Given the description of an element on the screen output the (x, y) to click on. 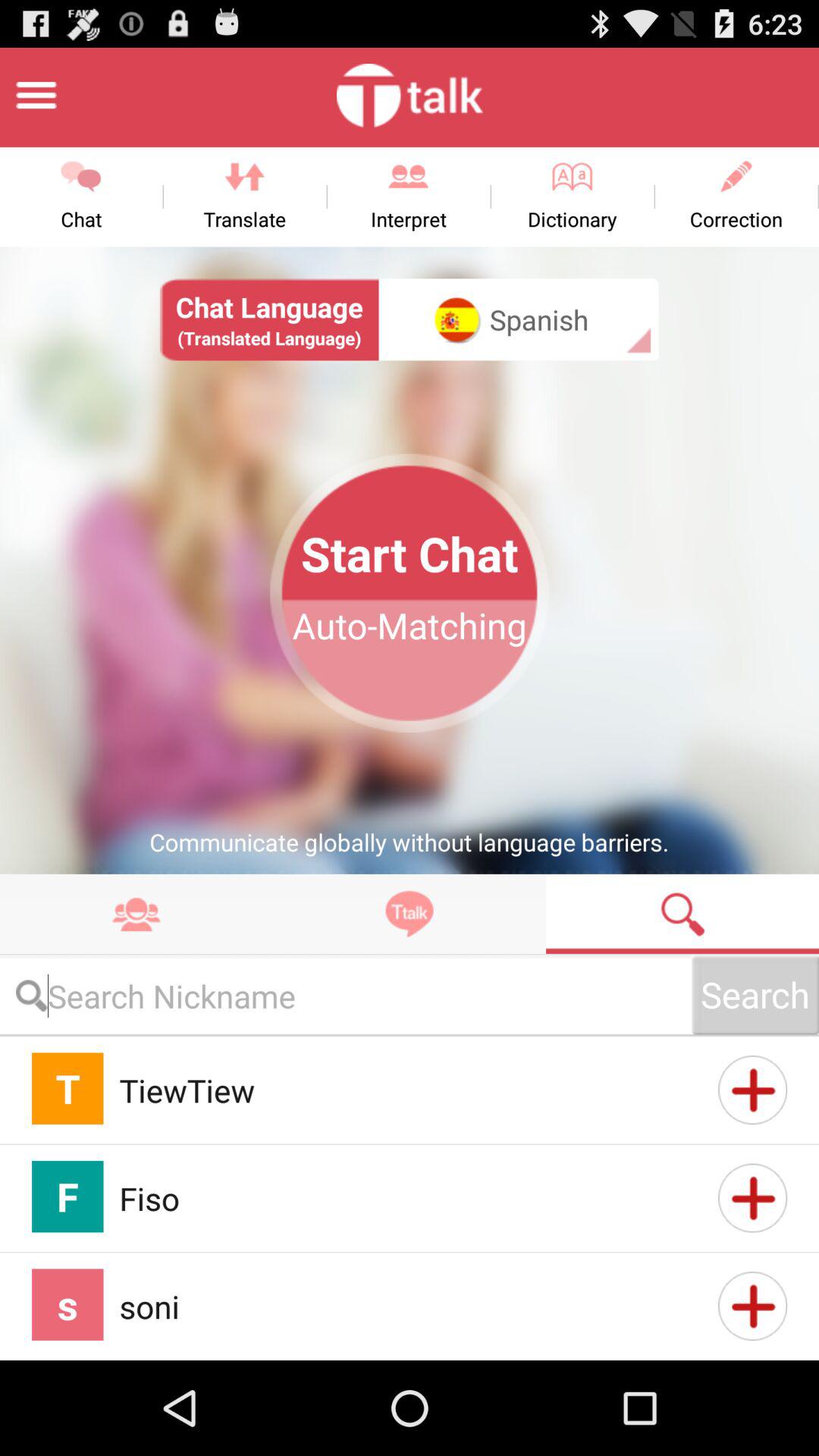
home page (36, 94)
